Given the description of an element on the screen output the (x, y) to click on. 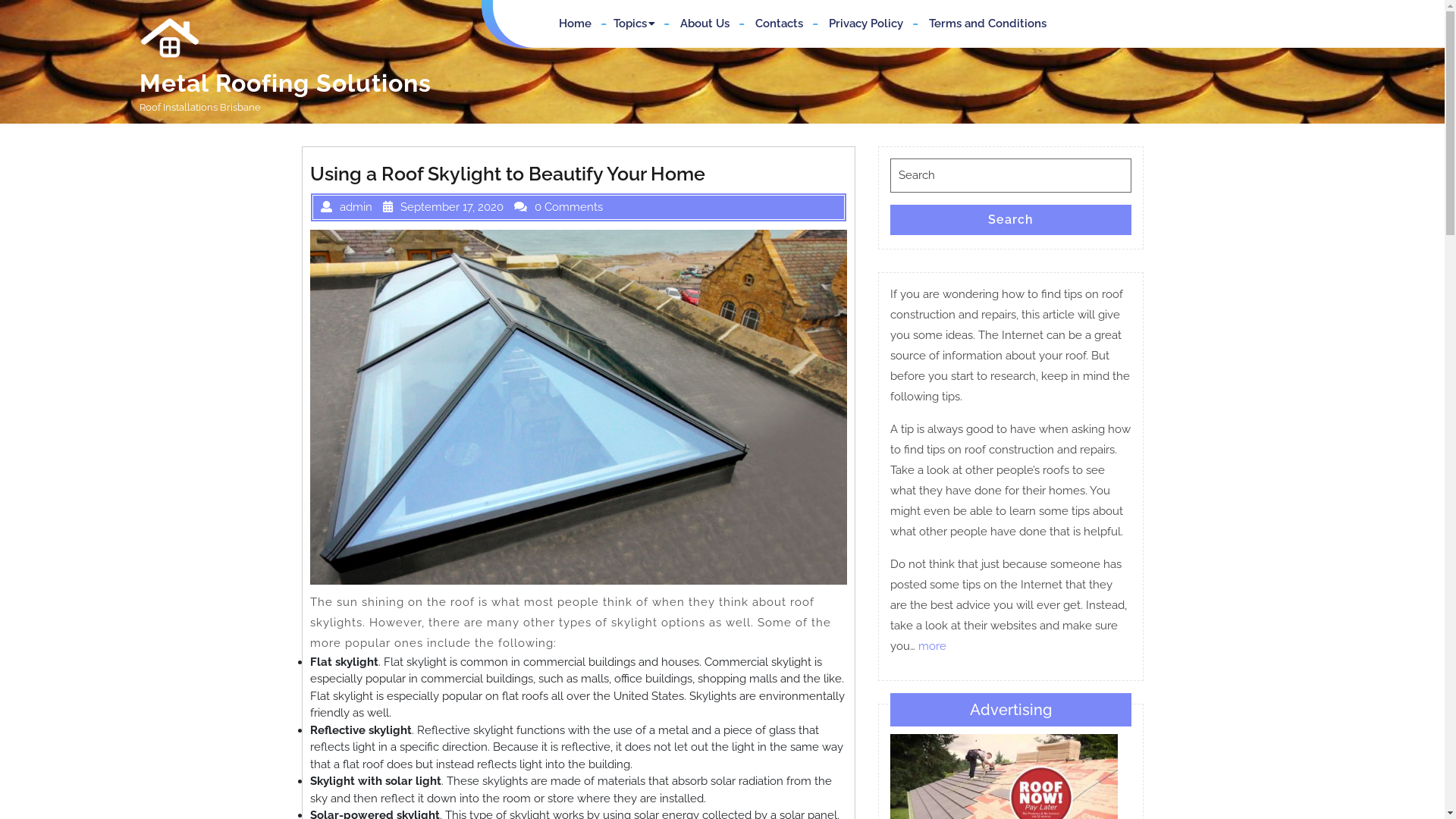
Metal Roofing Solutions Element type: text (285, 83)
Home Element type: text (574, 23)
Privacy Policy Element type: text (865, 23)
more Element type: text (931, 645)
Contacts Element type: text (778, 23)
Topics Element type: text (635, 23)
Terms and Conditions Element type: text (987, 23)
Search Element type: text (1010, 219)
About Us Element type: text (704, 23)
